Given the description of an element on the screen output the (x, y) to click on. 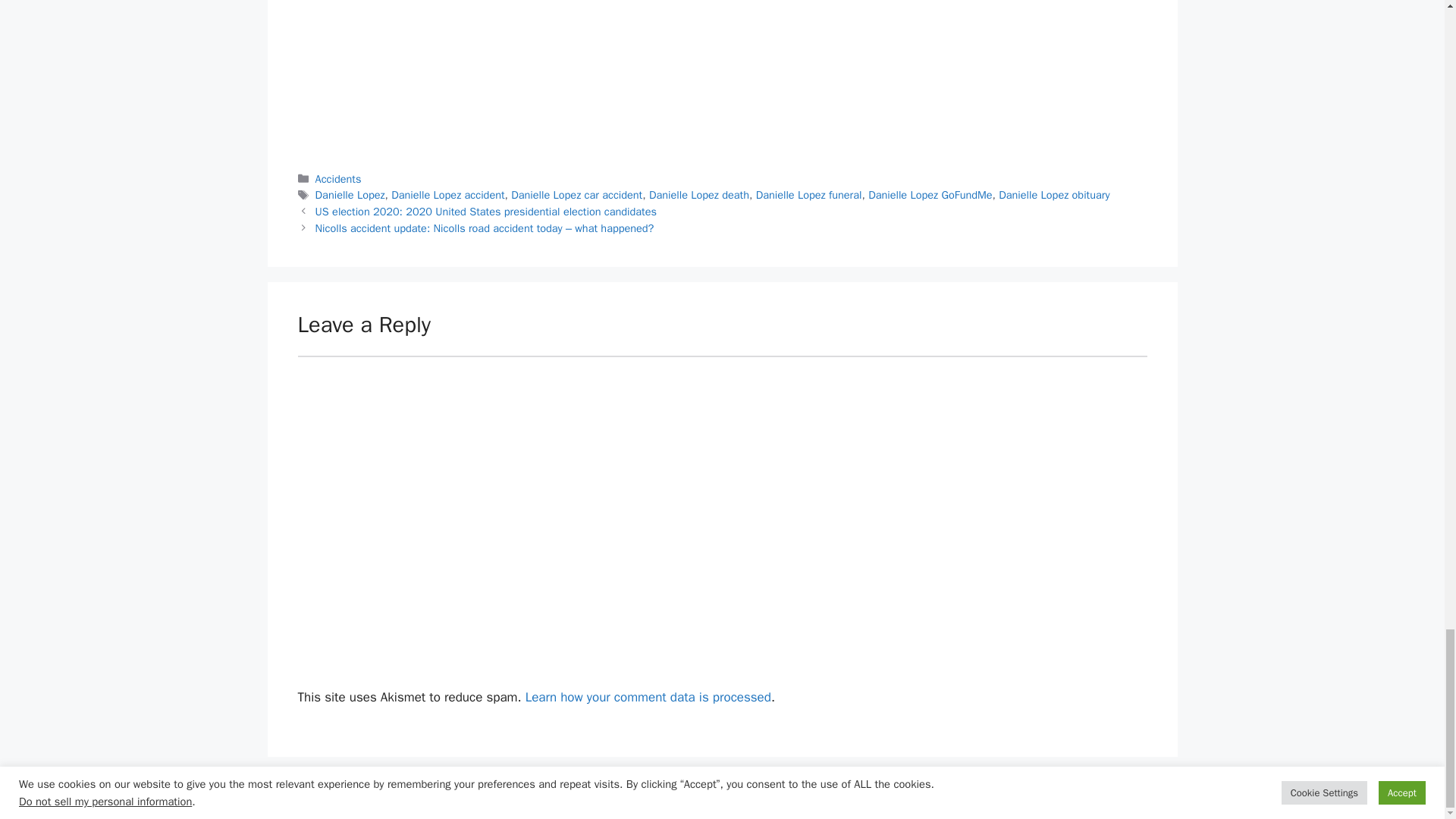
Danielle Lopez obituary (1053, 194)
GeneratePress (831, 795)
Danielle Lopez GoFundMe (929, 194)
Learn how your comment data is processed (648, 696)
Danielle Lopez death (699, 194)
Danielle Lopez car accident (576, 194)
Danielle Lopez funeral (808, 194)
Danielle Lopez (350, 194)
Accidents (338, 178)
Danielle Lopez accident (447, 194)
